Given the description of an element on the screen output the (x, y) to click on. 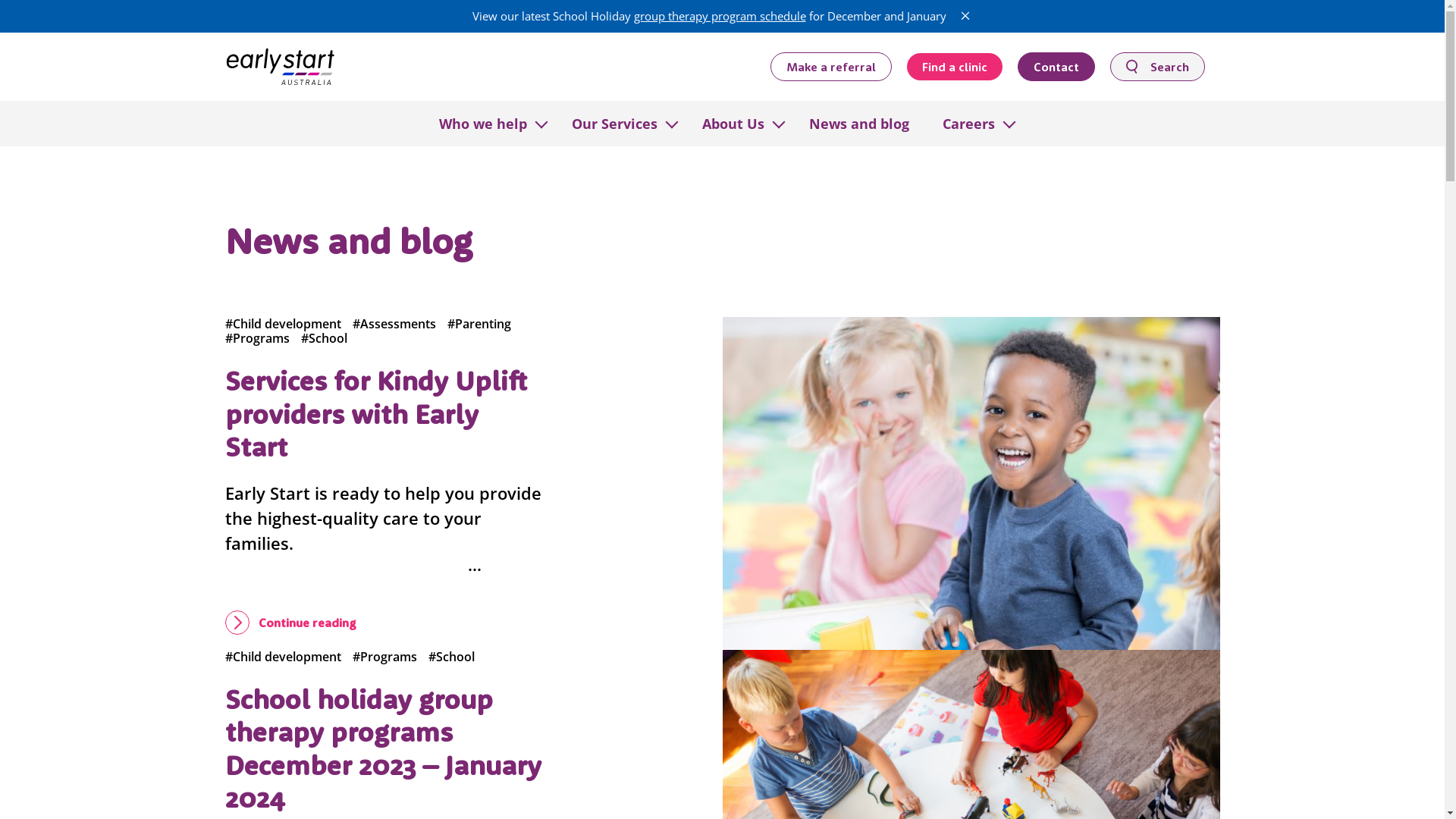
Contact Element type: text (1056, 65)
Make a referral Element type: text (830, 65)
X Element type: text (964, 15)
#Assessments Element type: text (393, 323)
#School Element type: text (450, 656)
News and blog Element type: text (858, 122)
Search Element type: text (1157, 65)
#Programs Element type: text (256, 337)
#Child development Element type: text (282, 323)
#Parenting Element type: text (479, 323)
Who we help Element type: text (481, 122)
Find a clinic Element type: text (954, 66)
Careers Element type: text (967, 122)
#Programs Element type: text (383, 656)
#Child development Element type: text (282, 656)
Continue reading Element type: text (289, 622)
Our Services Element type: text (614, 122)
group therapy program schedule Element type: text (719, 15)
About Us Element type: text (732, 122)
#School Element type: text (323, 337)
